Given the description of an element on the screen output the (x, y) to click on. 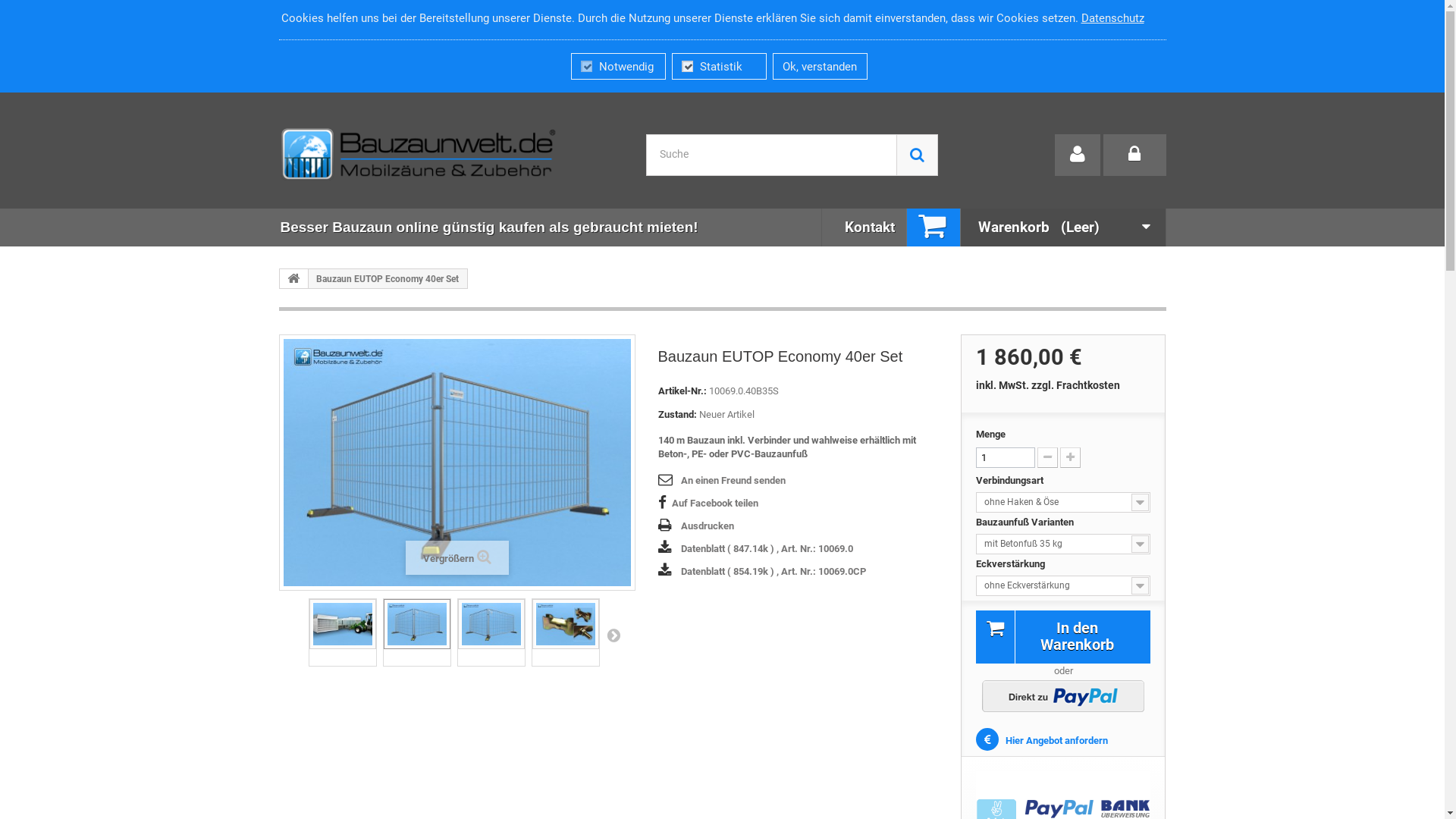
In den Warenkorb Element type: text (1062, 636)
Datenblatt ( 847.14k ) , Art. Nr.: 10069.0 Element type: text (755, 548)
Bauzaun EUTOP Economy 40er Set Element type: hover (416, 624)
Datenschutz Element type: text (1112, 18)
on Element type: text (687, 64)
Ihren Kundenbereich anzeigen Element type: hover (1076, 154)
Datenblatt ( 854.19k ) , Art. Nr.: 10069.0CP Element type: text (762, 571)
Anmelden zu Ihrem Kundenbereich Element type: hover (1133, 154)
Bauzaun EUTOP Economy 40er Set Element type: hover (342, 624)
Weiter Element type: text (612, 634)
Bauzaunwelt.de Element type: hover (419, 154)
Bauzaun EUTOP Economy 40er Set Element type: hover (491, 624)
Bauzaun EUTOP Economy 40er Set Element type: hover (491, 624)
Hier Angebot anfordern Element type: text (1041, 740)
Bauzaun EUTOP Economy 40er Set Element type: hover (565, 624)
Auf Facebook teilen Element type: text (708, 503)
An einen Freund senden Element type: text (721, 480)
Bauzaun EUTOP Economy 40er Set Element type: hover (416, 624)
Ausdrucken Element type: text (696, 525)
Ok, verstanden Element type: text (819, 66)
Bauzaun EUTOP Economy 40er Set Element type: hover (565, 624)
Bauzaun EUTOP Economy 40er Set Element type: hover (342, 624)
Warenkorb (Leer) Element type: text (1035, 227)
Kontakt Element type: text (869, 227)
Bauzaun EUTOP Economy 40er Set Element type: hover (456, 462)
